Given the description of an element on the screen output the (x, y) to click on. 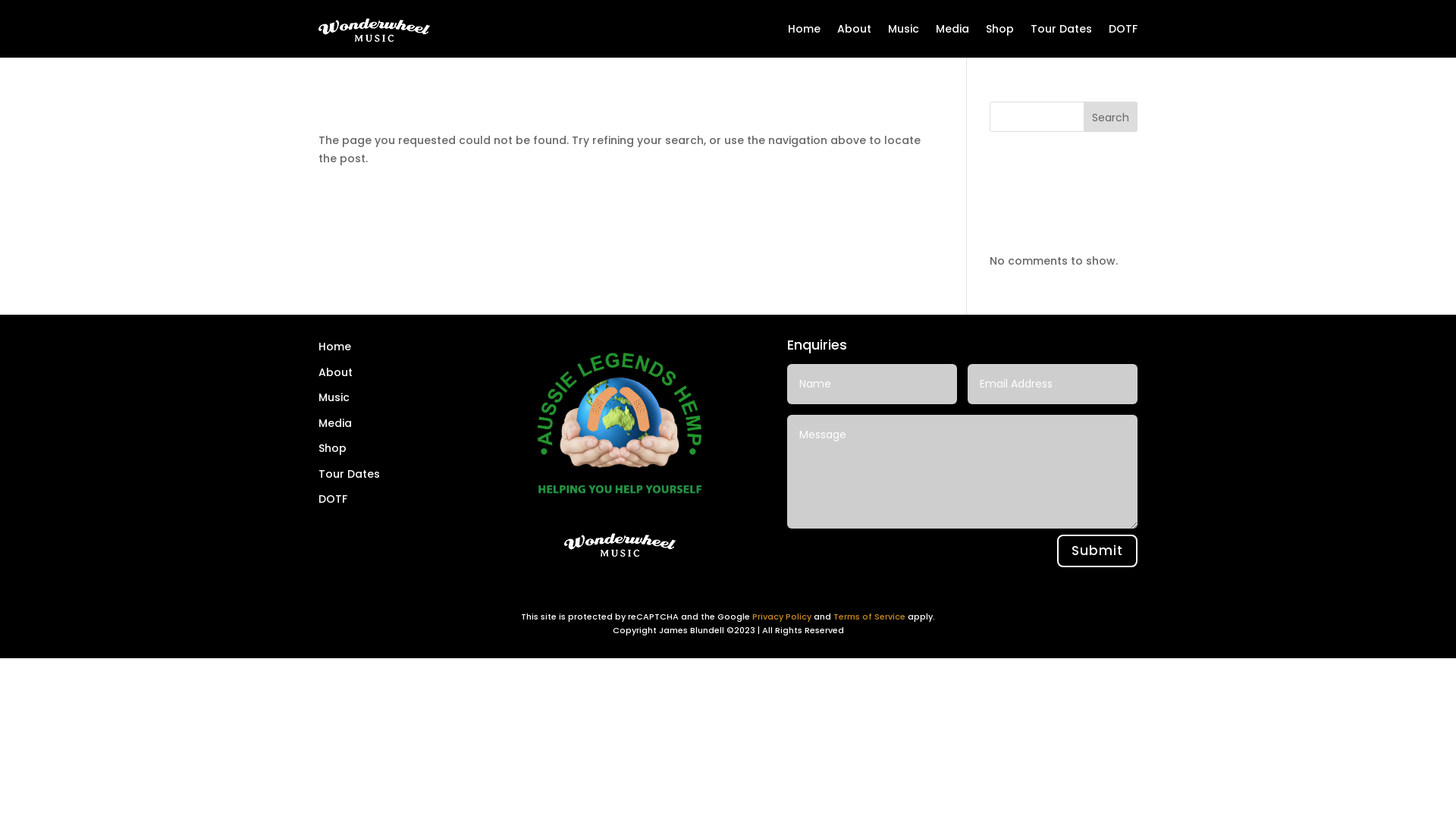
Search Element type: text (1110, 116)
About Element type: text (854, 28)
ALH Logo Element type: hover (619, 423)
Submit Element type: text (1097, 550)
Wonderwheel logo Element type: hover (619, 543)
Music Element type: text (903, 28)
Terms of Service Element type: text (869, 616)
Media Element type: text (952, 28)
Shop Element type: text (999, 28)
Privacy Policy Element type: text (781, 616)
Tour Dates Element type: text (1061, 28)
DOTF Element type: text (1122, 28)
Home Element type: text (803, 28)
